Given the description of an element on the screen output the (x, y) to click on. 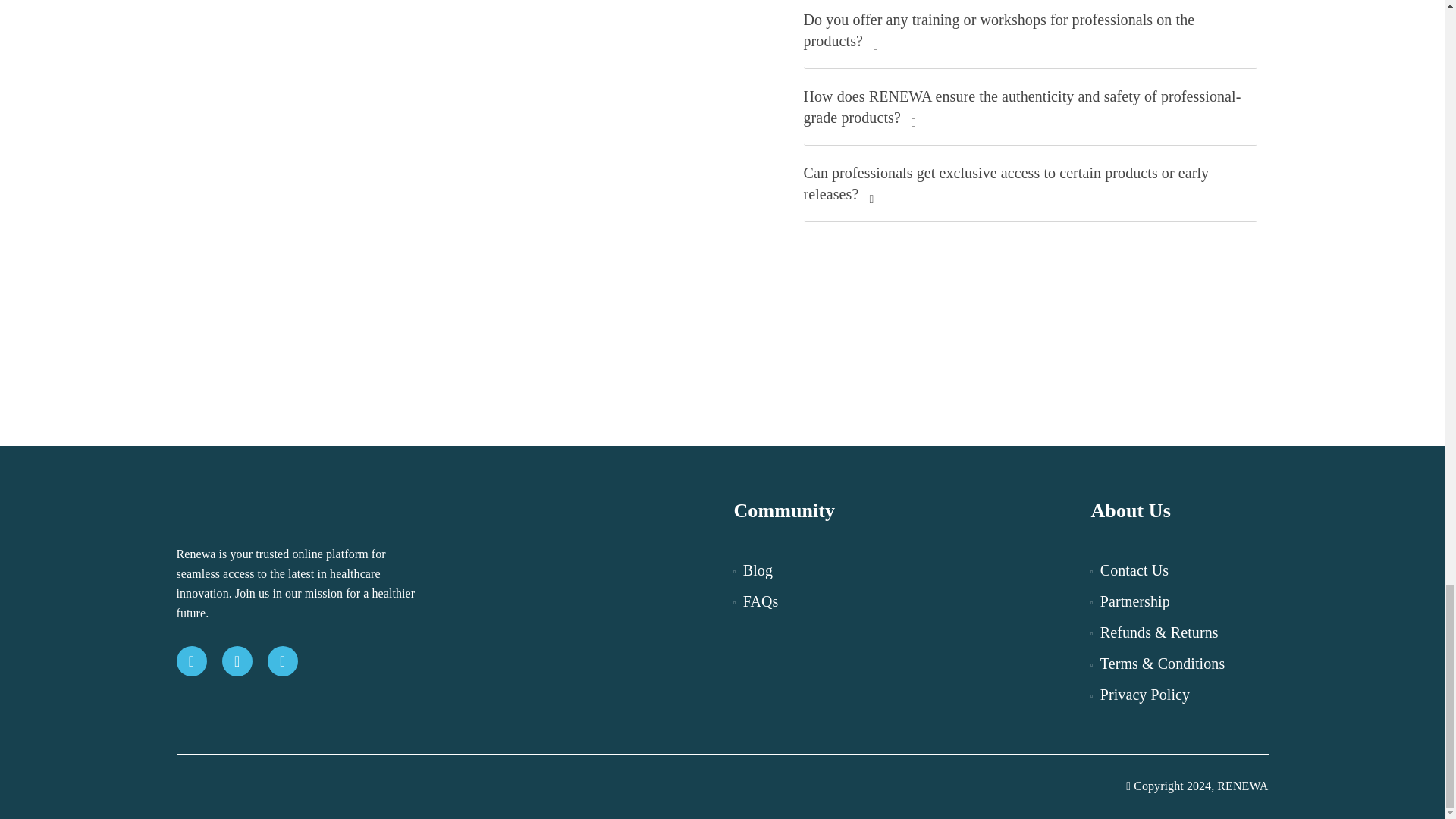
RENEWA White Logo (279, 515)
